Given the description of an element on the screen output the (x, y) to click on. 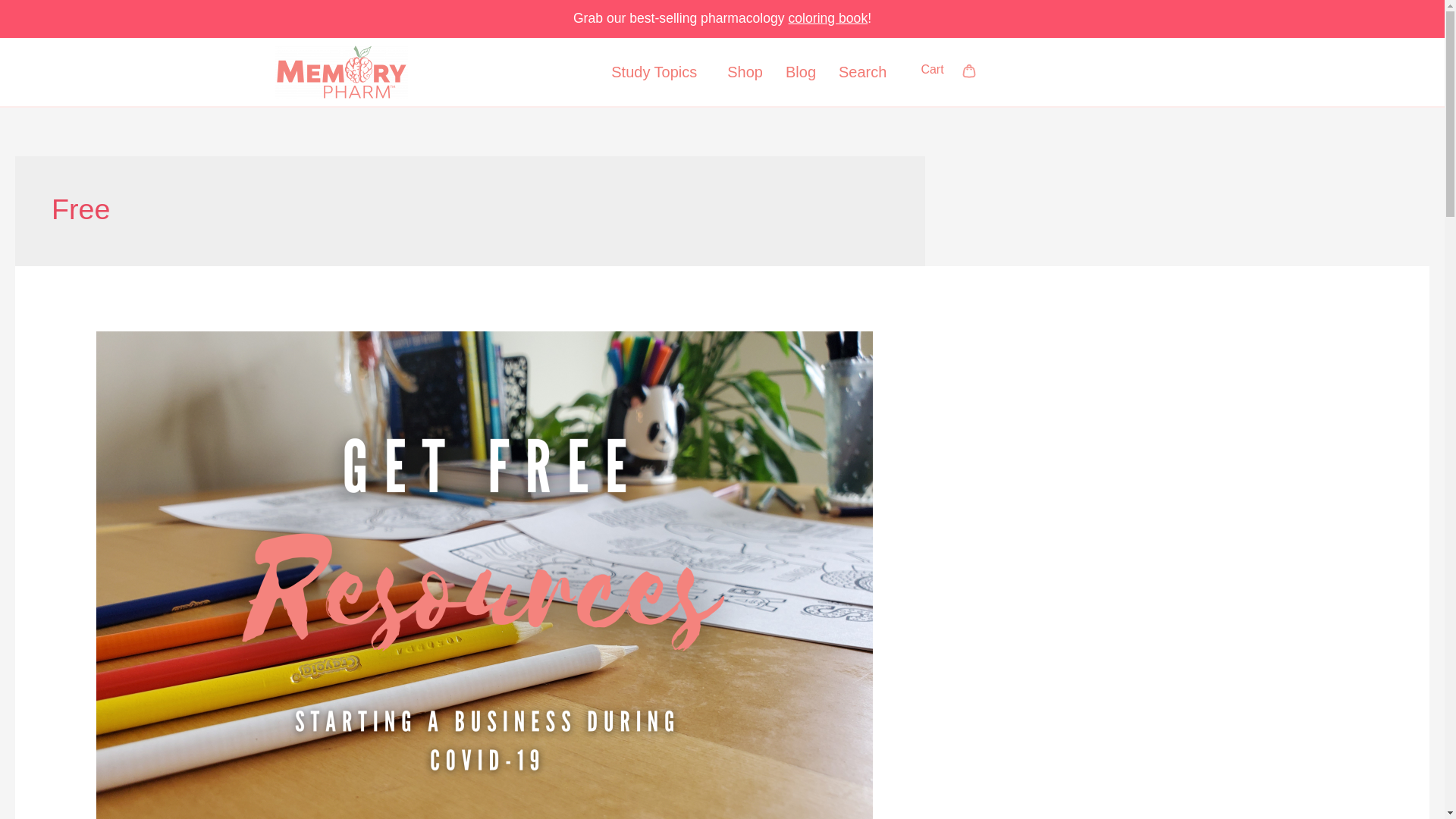
Cart (969, 71)
Shop (745, 71)
Study Topics (657, 71)
Search (862, 71)
Blog (800, 71)
coloring book (828, 17)
